Given the description of an element on the screen output the (x, y) to click on. 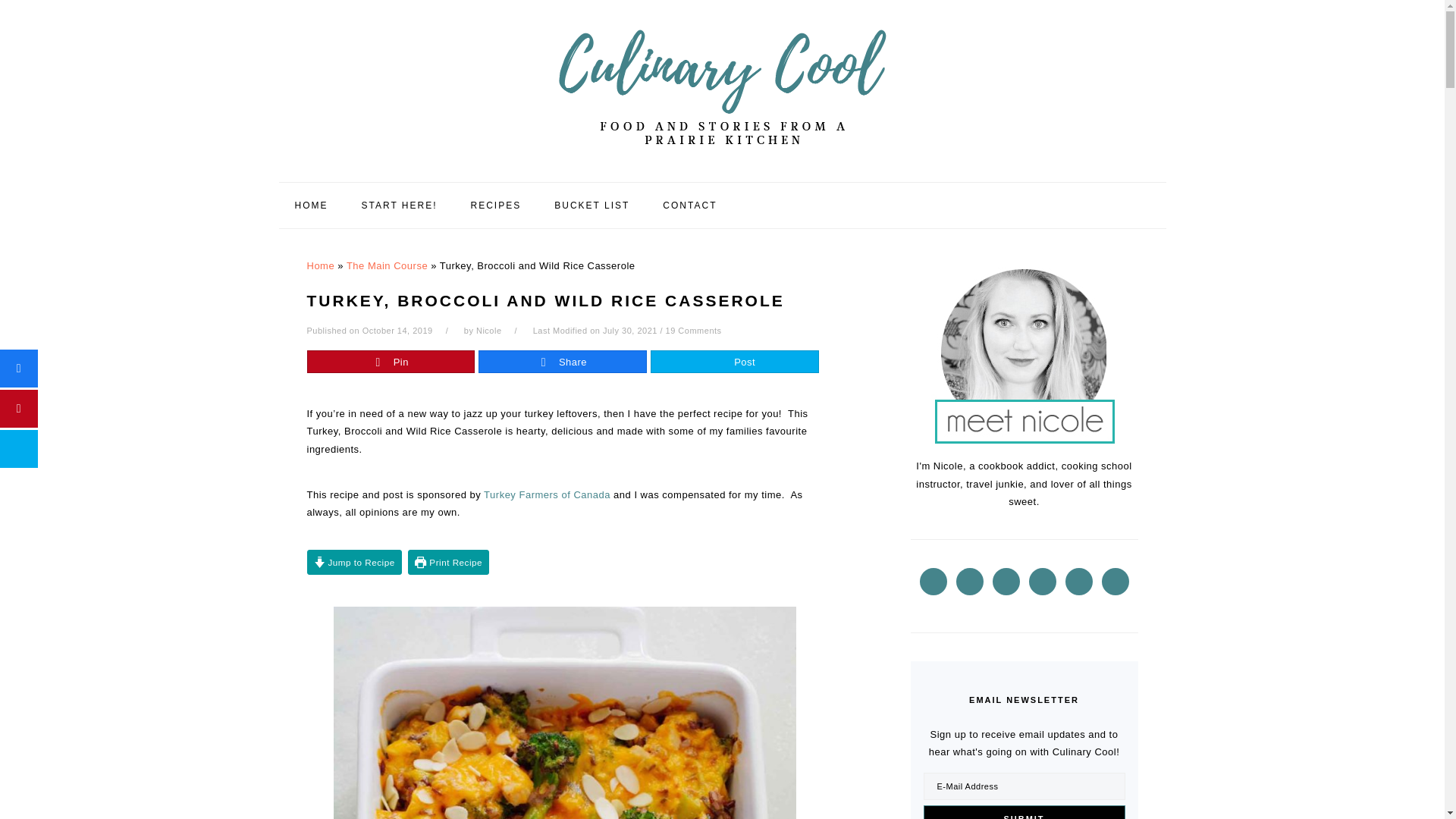
Submit (1024, 812)
Home (319, 265)
RECIPES (495, 205)
Post (734, 362)
19 Comments (693, 329)
Share (562, 362)
The Main Course (387, 265)
CONTACT (689, 205)
Turkey Farmers of Canada (546, 494)
